Given the description of an element on the screen output the (x, y) to click on. 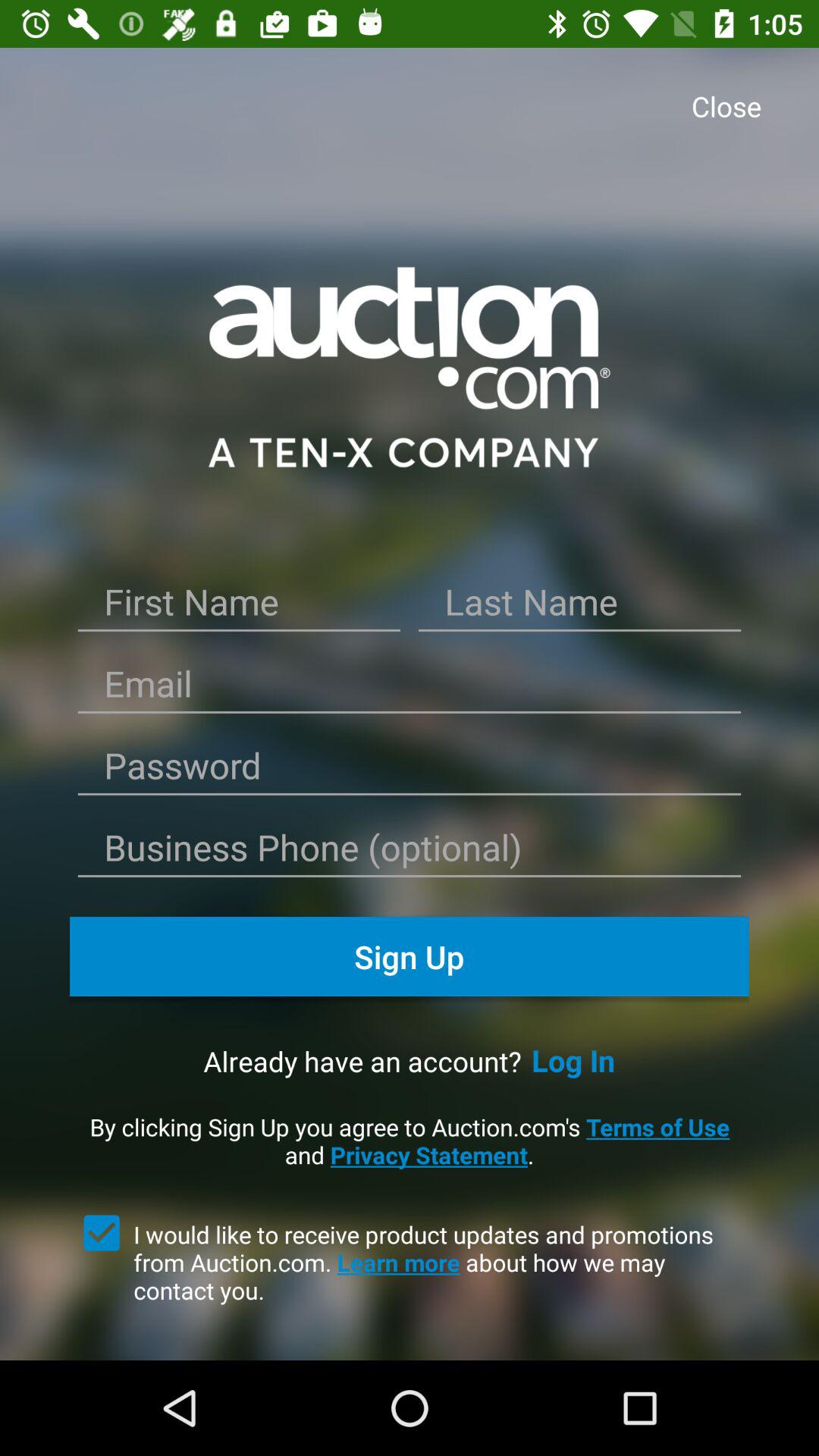
enter first name (238, 607)
